Given the description of an element on the screen output the (x, y) to click on. 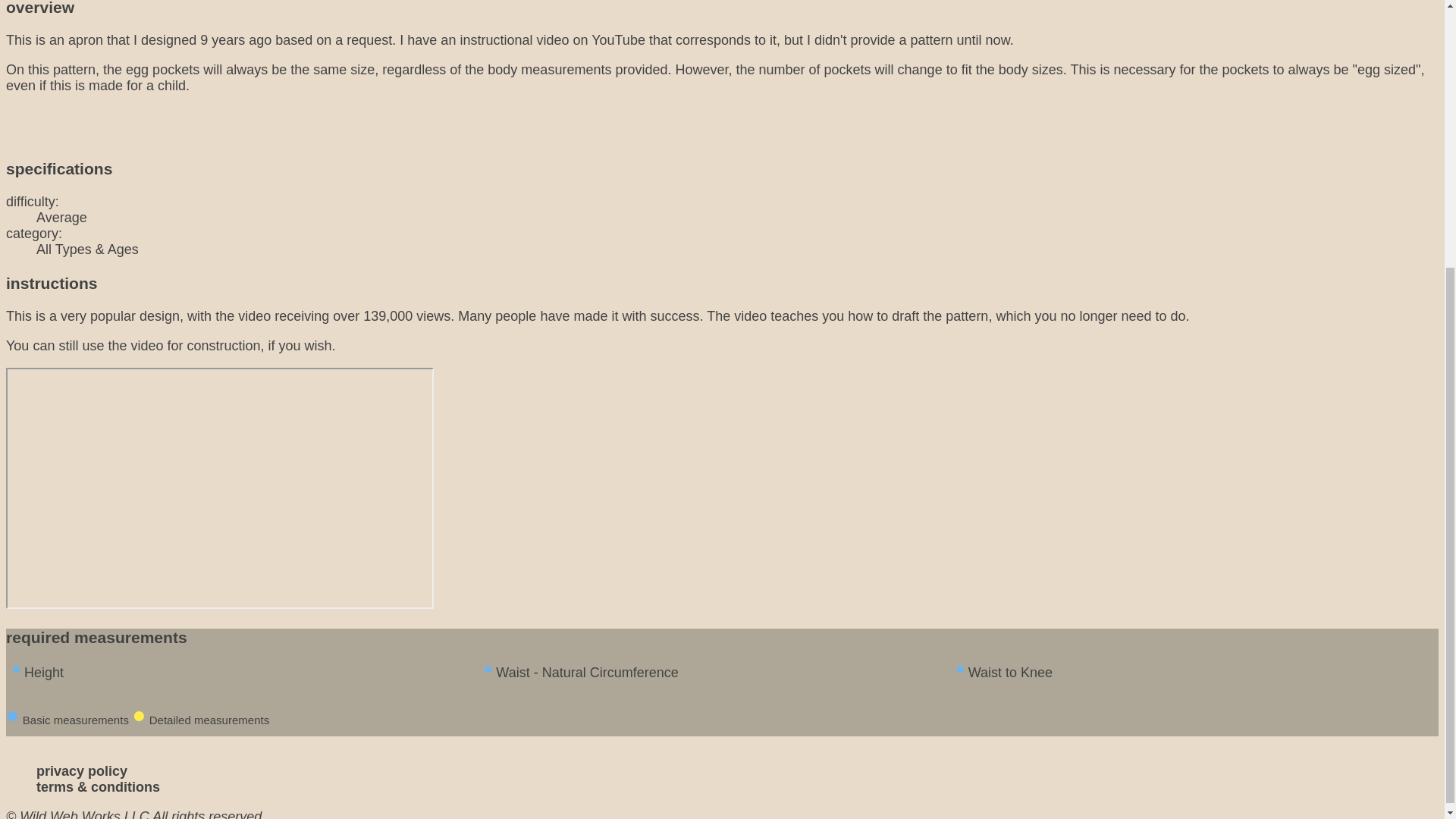
privacy policy (82, 770)
